Given the description of an element on the screen output the (x, y) to click on. 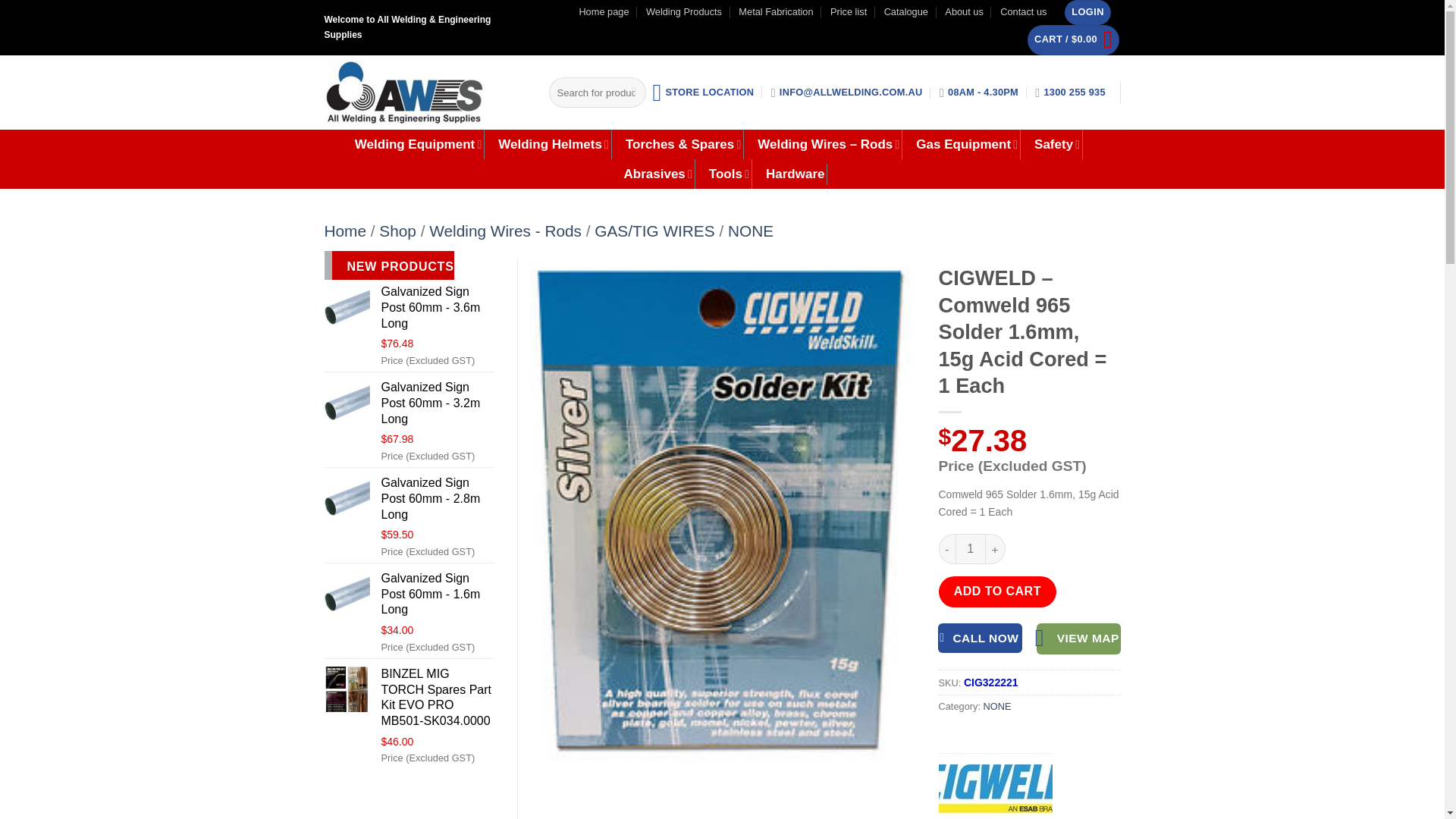
Welding Products (684, 12)
Welding Equipment (419, 143)
LOGIN (1086, 12)
08AM - 4.30PM (978, 91)
Home page (603, 12)
Search (634, 92)
Contact us (1023, 12)
1 (970, 548)
1300 255 935 (1070, 91)
Cart (1073, 40)
Qty (970, 548)
Metal Fabrication (775, 12)
About us (964, 12)
CIGWELD (995, 779)
Welding Helmets (554, 143)
